Given the description of an element on the screen output the (x, y) to click on. 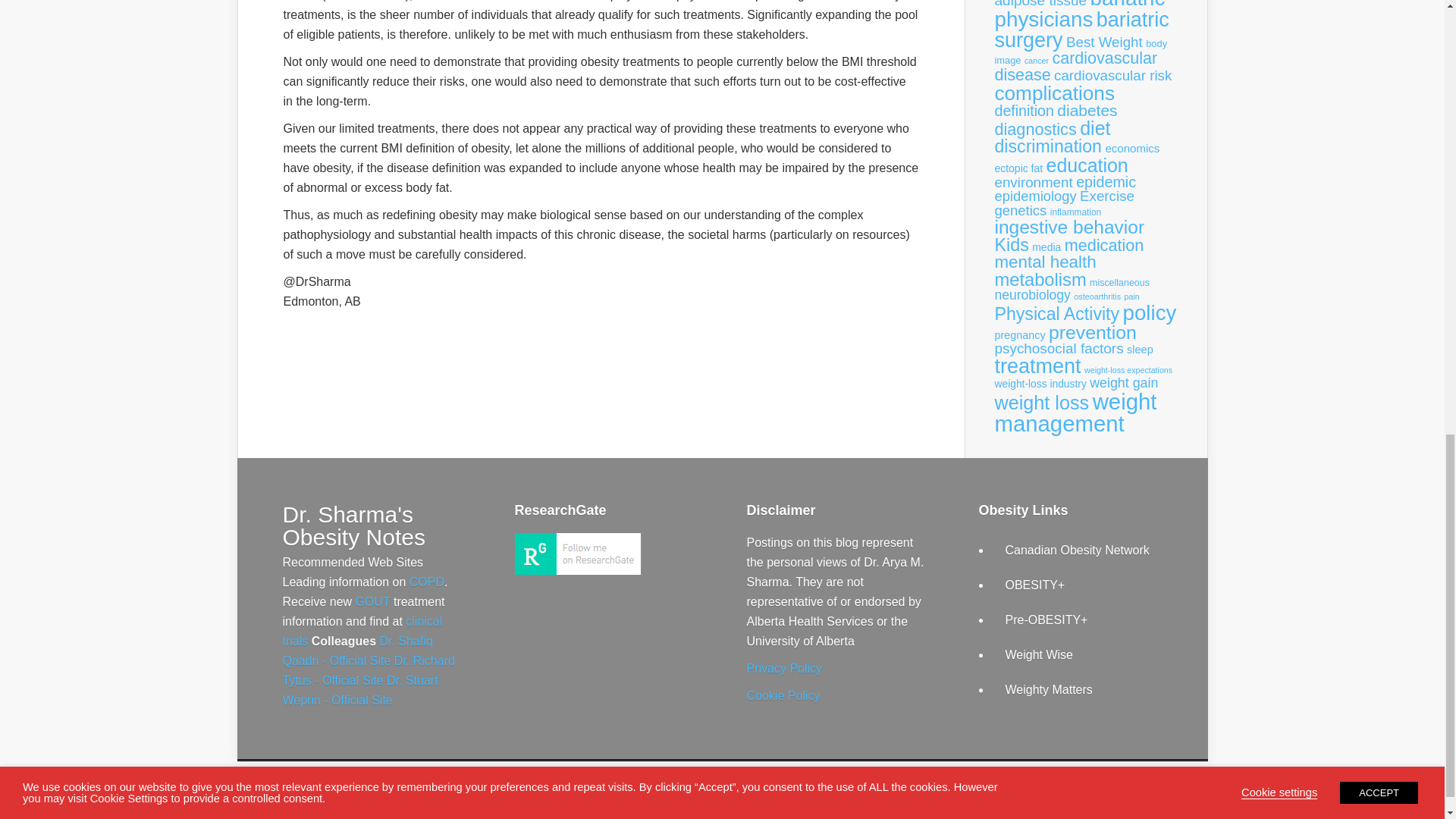
diet (1094, 127)
ectopic fat (1018, 168)
education (1087, 165)
Arya Mitra Sharma (576, 570)
body image (1080, 51)
Best Weight (1103, 41)
Canadian Obesity Network (1078, 549)
economics (1131, 147)
complications (1054, 92)
bariatric physicians (1080, 15)
COPD (426, 581)
cardiovascular risk (1113, 75)
Weight Wise (1040, 654)
diabetes (1086, 109)
Gout Institute (372, 601)
